Given the description of an element on the screen output the (x, y) to click on. 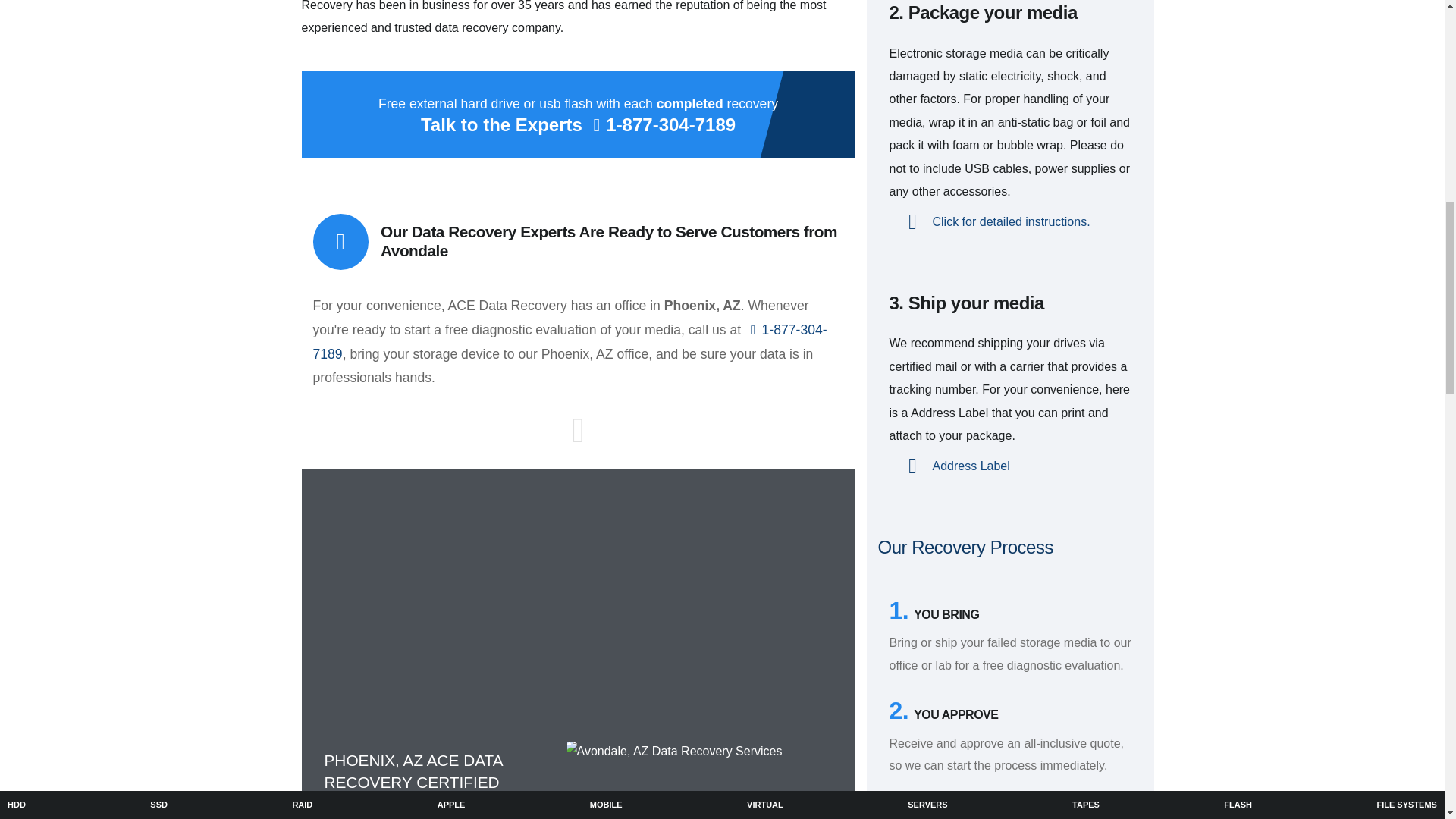
Avondale, AZ Data Recovery Services (697, 779)
